Given the description of an element on the screen output the (x, y) to click on. 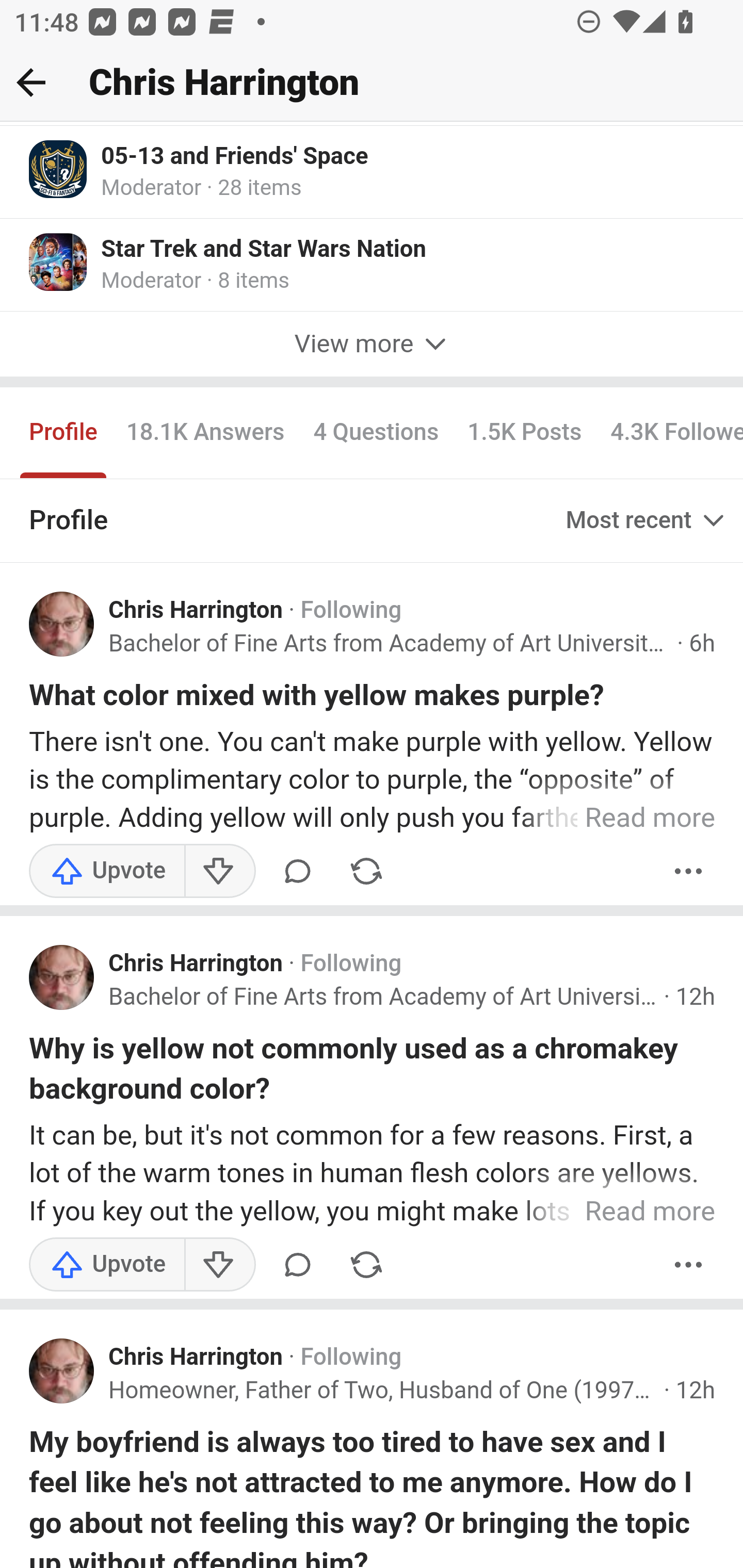
Back (30, 82)
Icon for 05-13 and Friends' Space (58, 169)
05-13 and Friends' Space (235, 157)
Icon for Star Trek and Star Wars Nation (58, 263)
Star Trek and Star Wars Nation (264, 250)
View more (371, 346)
Profile (63, 434)
18.1K Answers (204, 434)
4 Questions (375, 434)
1.5K Posts (524, 434)
4.3K Followers (669, 434)
Most recent (647, 520)
Profile photo for Chris Harrington (61, 626)
Chris Harrington (195, 611)
Following (350, 611)
Upvote (106, 872)
Downvote (219, 872)
Comment (297, 872)
Share (366, 872)
More (688, 872)
Profile photo for Chris Harrington (61, 978)
Chris Harrington (195, 965)
Following (350, 965)
Upvote (106, 1266)
Downvote (219, 1266)
Comment (297, 1266)
Share (366, 1266)
More (688, 1266)
Profile photo for Chris Harrington (61, 1372)
Chris Harrington (195, 1359)
Following (350, 1359)
